Given the description of an element on the screen output the (x, y) to click on. 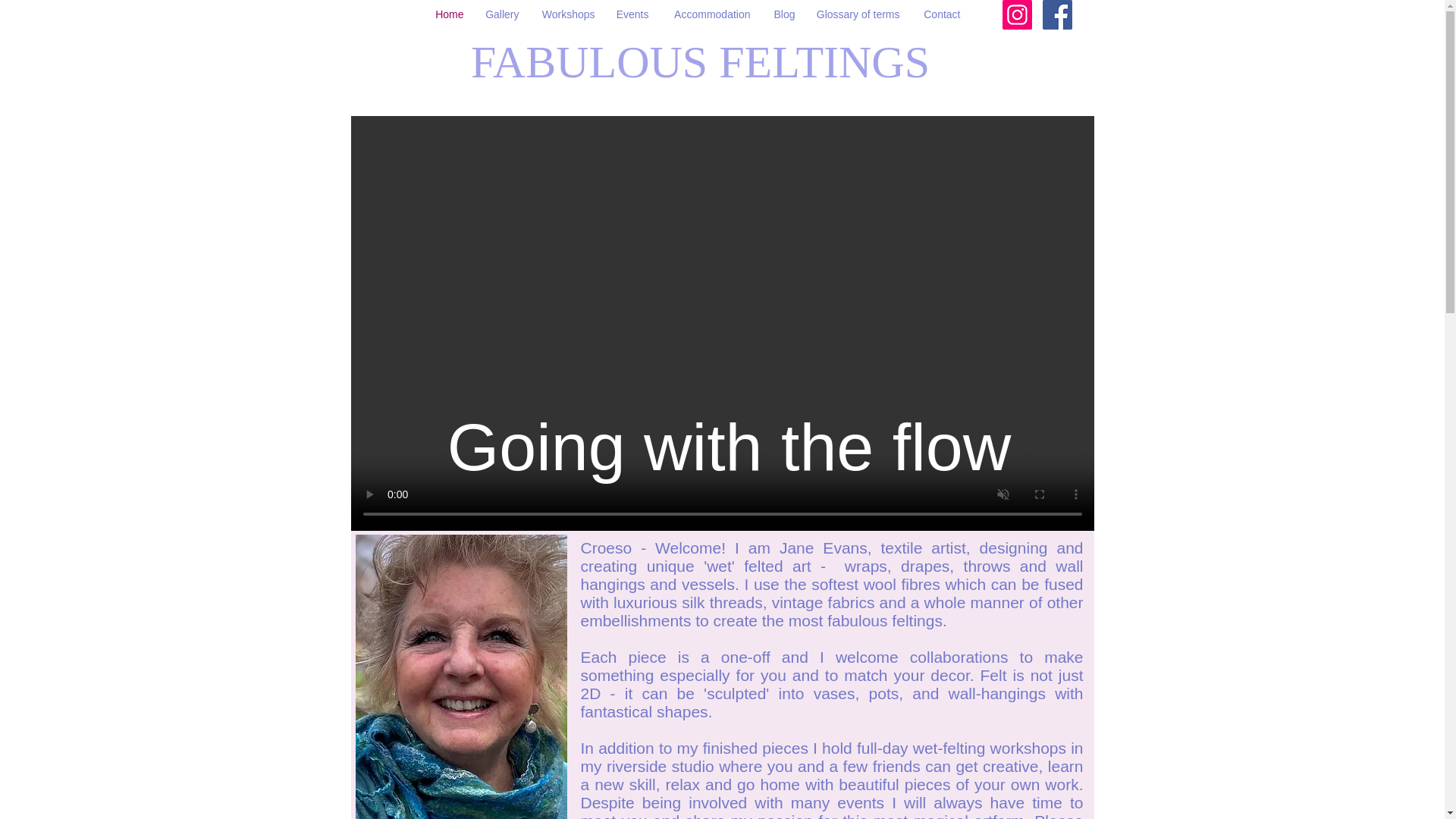
Home (448, 14)
Glossary of terms (858, 14)
Accommodation (710, 14)
Workshops (569, 14)
Events (634, 14)
Contact (941, 14)
Gallery (501, 14)
Blog (783, 14)
